Given the description of an element on the screen output the (x, y) to click on. 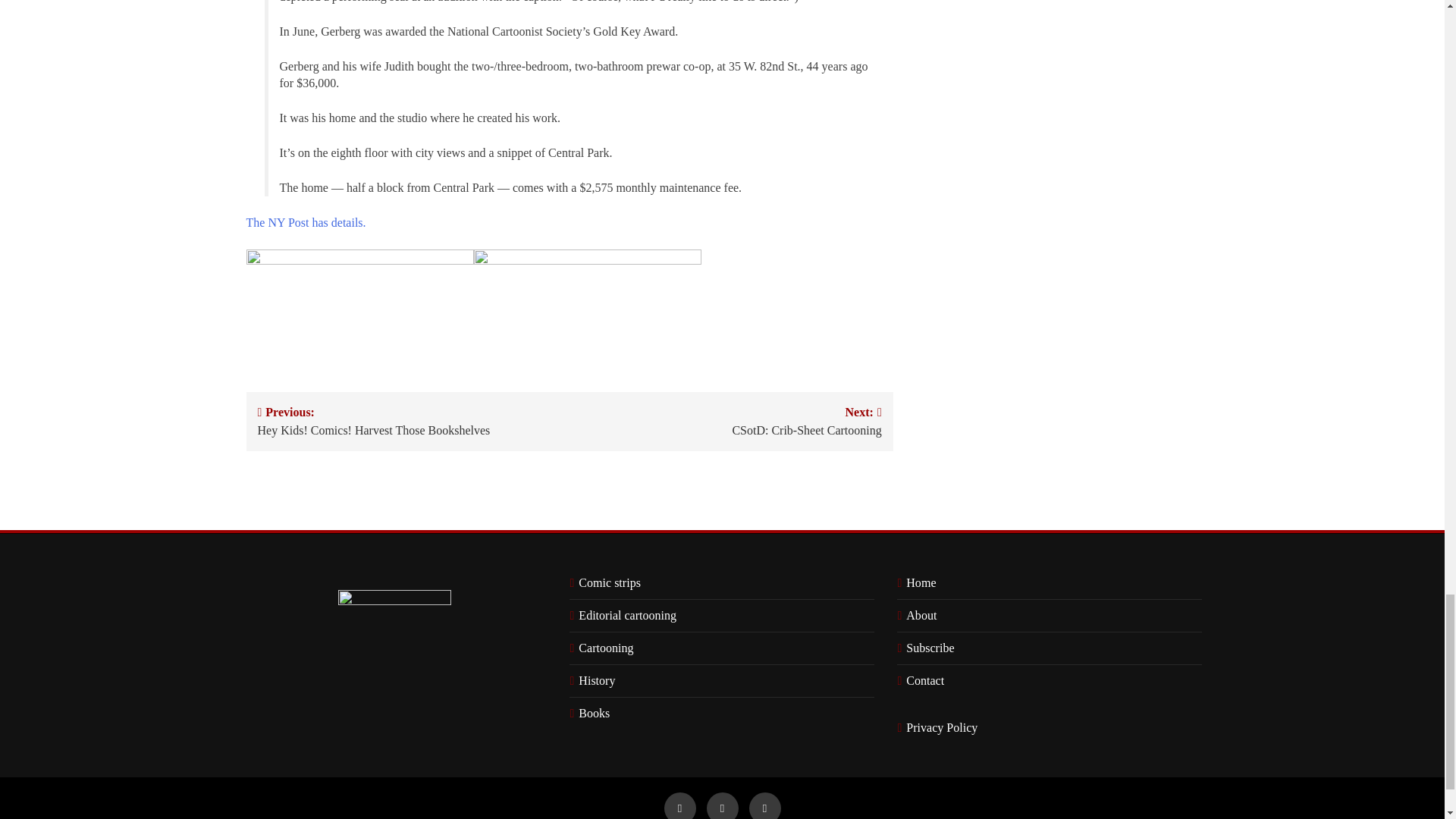
Subscribe to The Daily Cartoonist (927, 647)
